Given the description of an element on the screen output the (x, y) to click on. 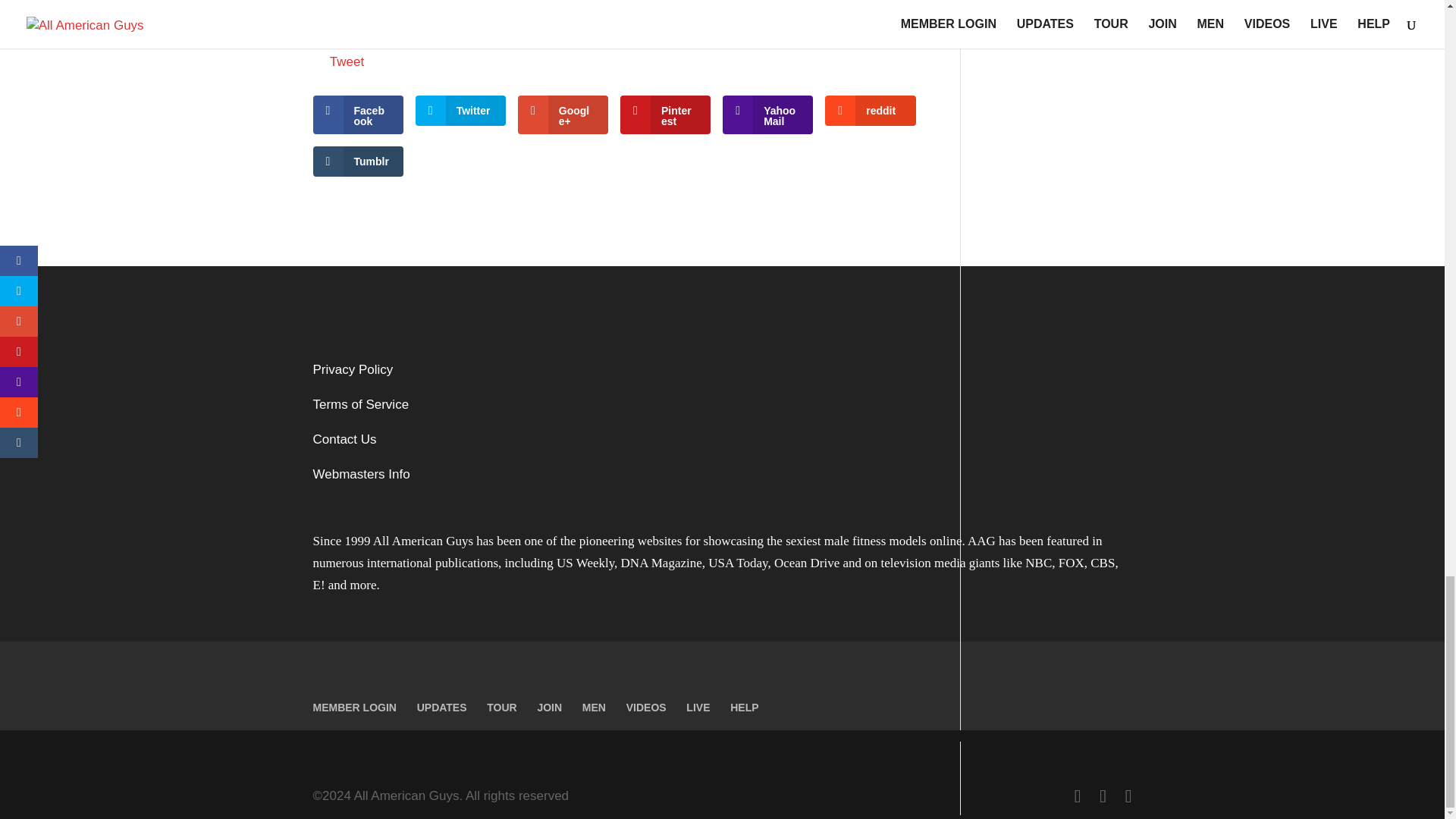
Tumblr (358, 161)
reddit (870, 110)
Yahoo Mail (767, 114)
Facebook (358, 114)
Tweet (347, 61)
Check out all of the awesome men now in the Members Area (698, 14)
Pinterest (665, 114)
Twitter (459, 110)
